Given the description of an element on the screen output the (x, y) to click on. 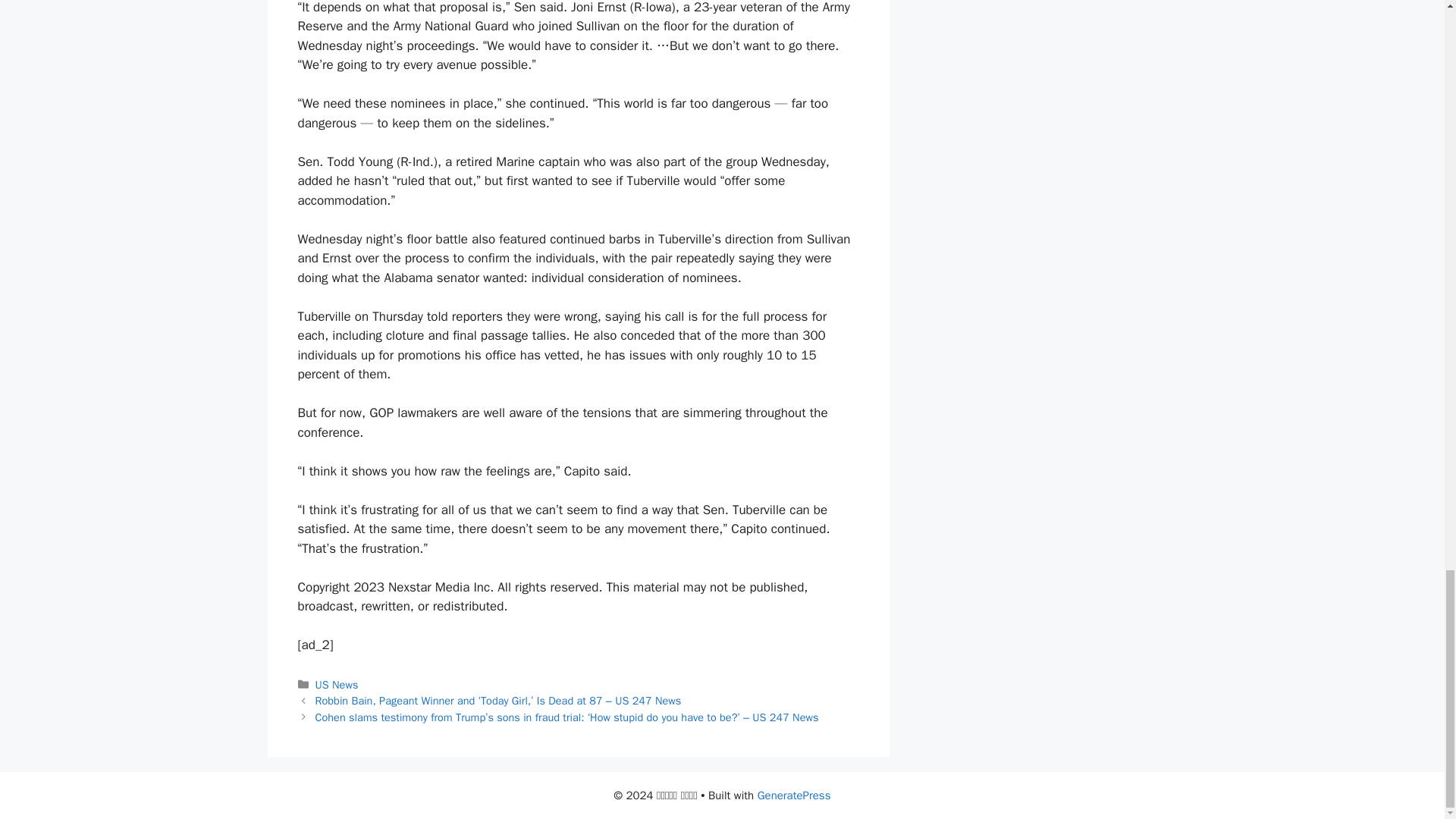
GeneratePress (794, 795)
US News (336, 684)
